Given the description of an element on the screen output the (x, y) to click on. 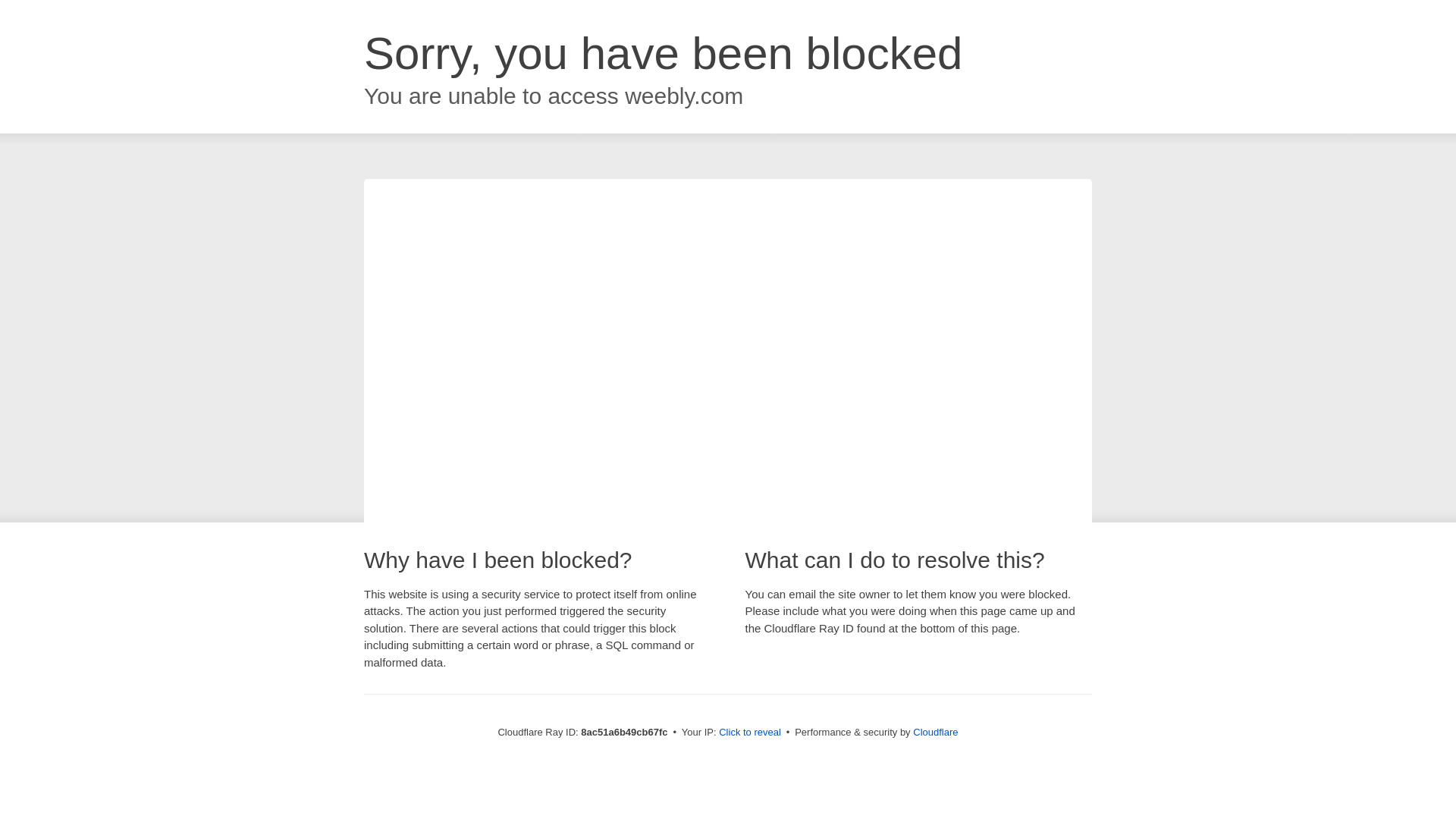
Cloudflare (935, 731)
Click to reveal (749, 732)
